Given the description of an element on the screen output the (x, y) to click on. 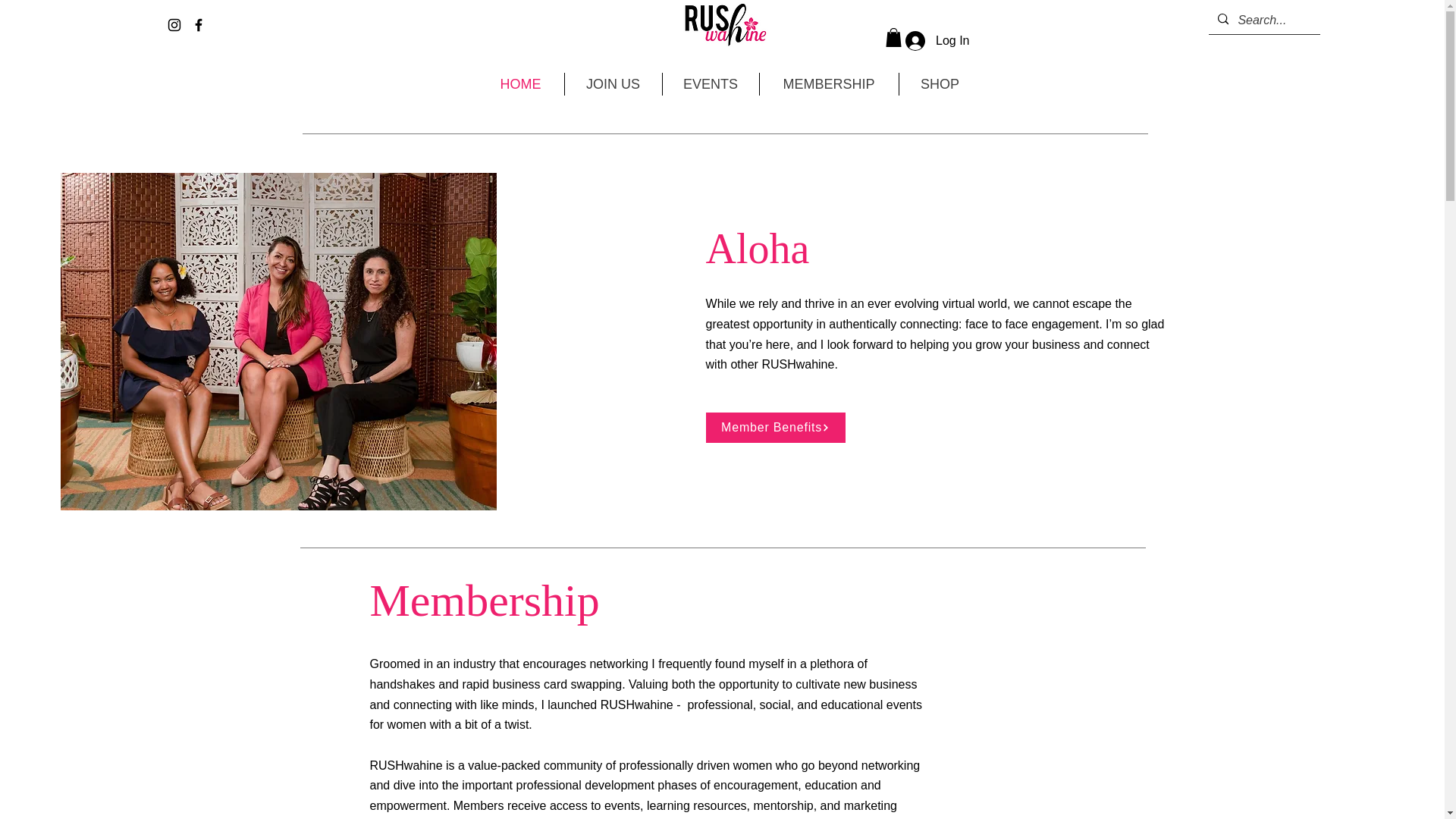
Member Benefits (775, 427)
JOIN US (612, 83)
MEMBERSHIP (829, 83)
Log In (937, 40)
EVENTS (710, 83)
HOME (520, 83)
join membrship today (724, 23)
SHOP (940, 83)
